Given the description of an element on the screen output the (x, y) to click on. 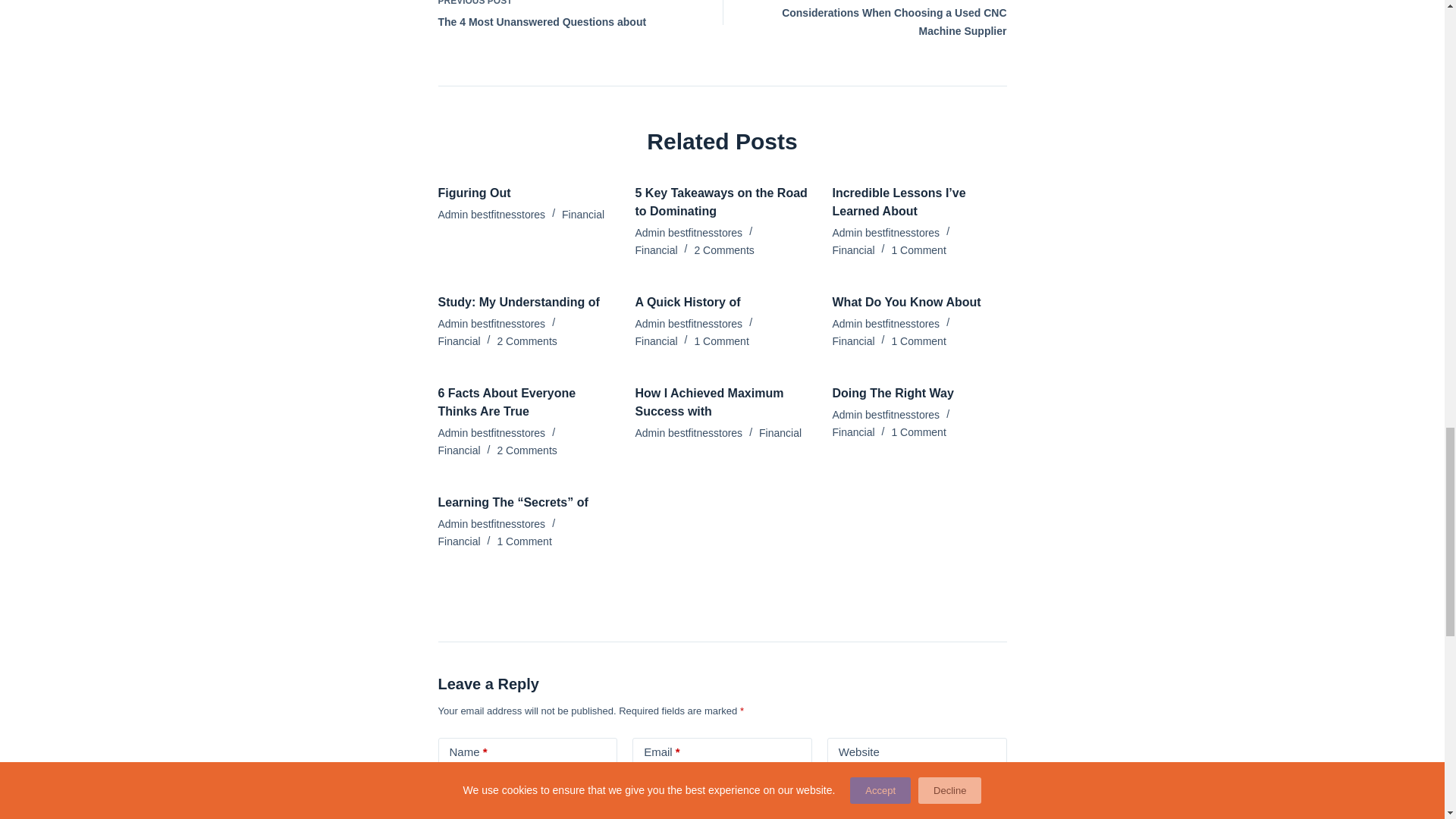
Posts by Admin bestfitnesstores (886, 232)
Posts by Admin bestfitnesstores (688, 323)
Posts by Admin bestfitnesstores (492, 214)
Posts by Admin bestfitnesstores (688, 232)
Posts by Admin bestfitnesstores (492, 323)
